Given the description of an element on the screen output the (x, y) to click on. 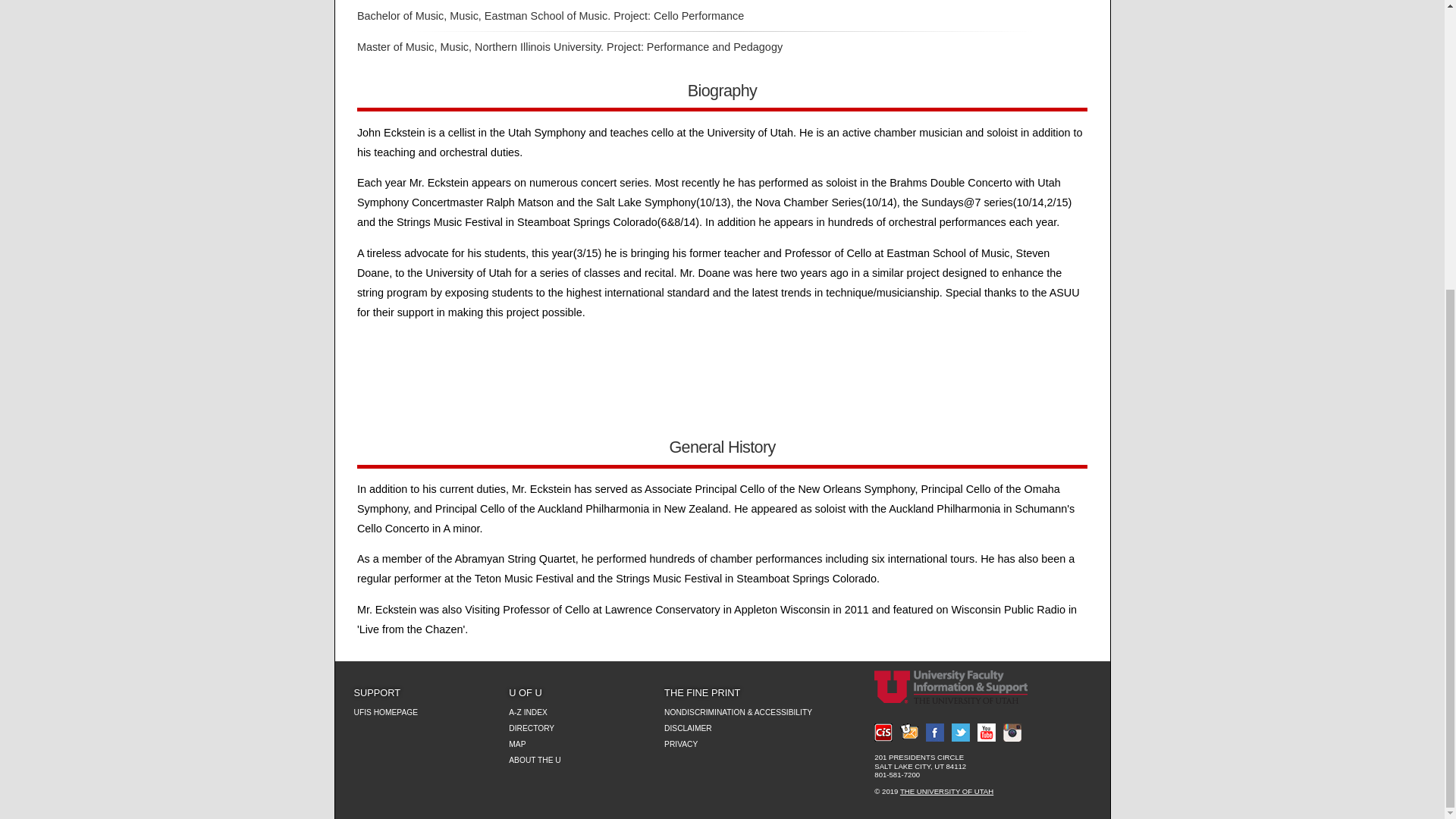
instagram (1012, 732)
youtube (985, 732)
twitter (960, 732)
U-Mail (908, 732)
facebook (934, 732)
CIS login (883, 732)
